Given the description of an element on the screen output the (x, y) to click on. 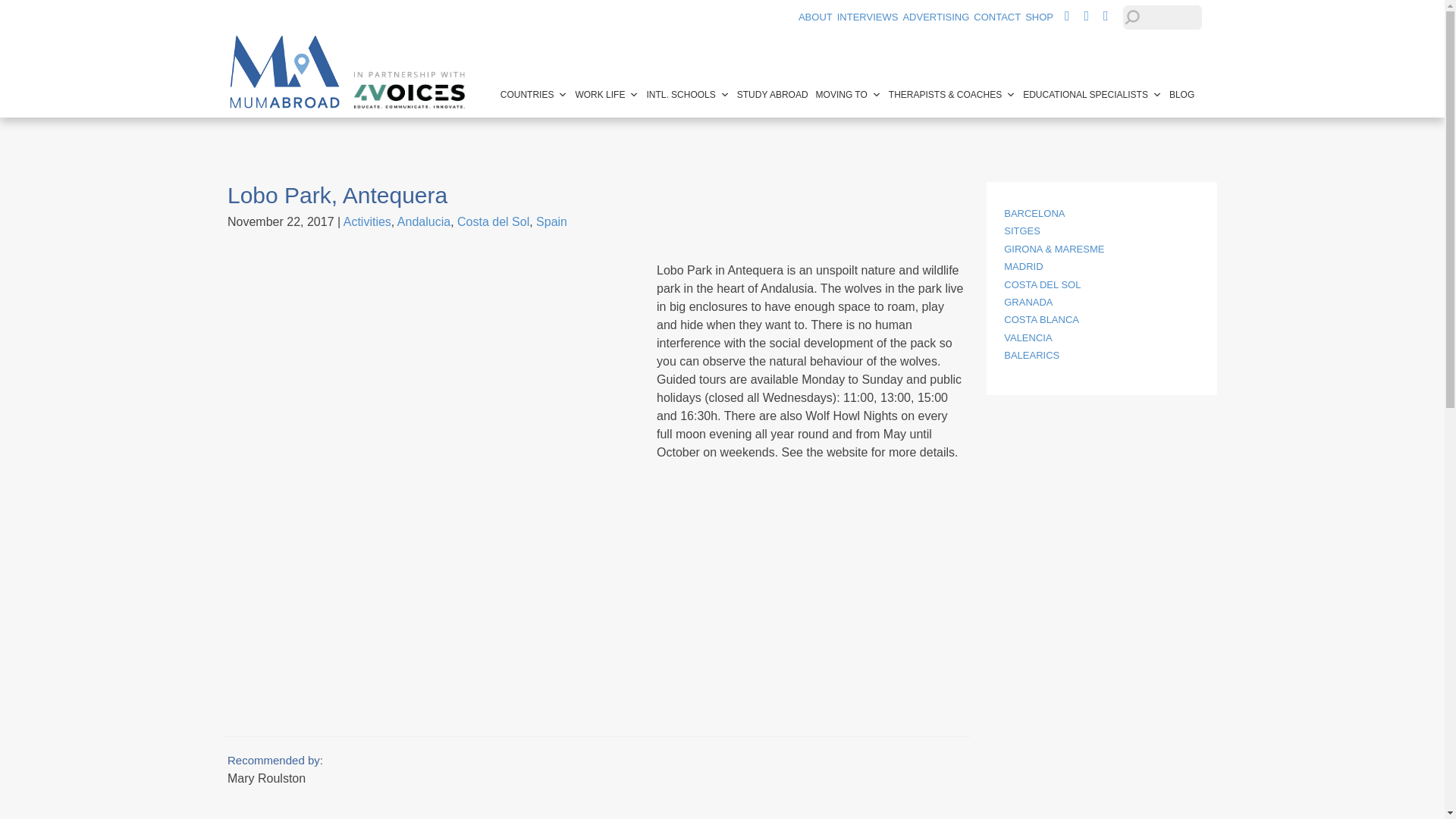
Search for: (1162, 16)
CONTACT (997, 16)
ABOUT (814, 16)
Search (25, 11)
ADVERTISING (935, 16)
SHOP (1038, 16)
COUNTRIES (534, 94)
INTERVIEWS (867, 16)
